Given the description of an element on the screen output the (x, y) to click on. 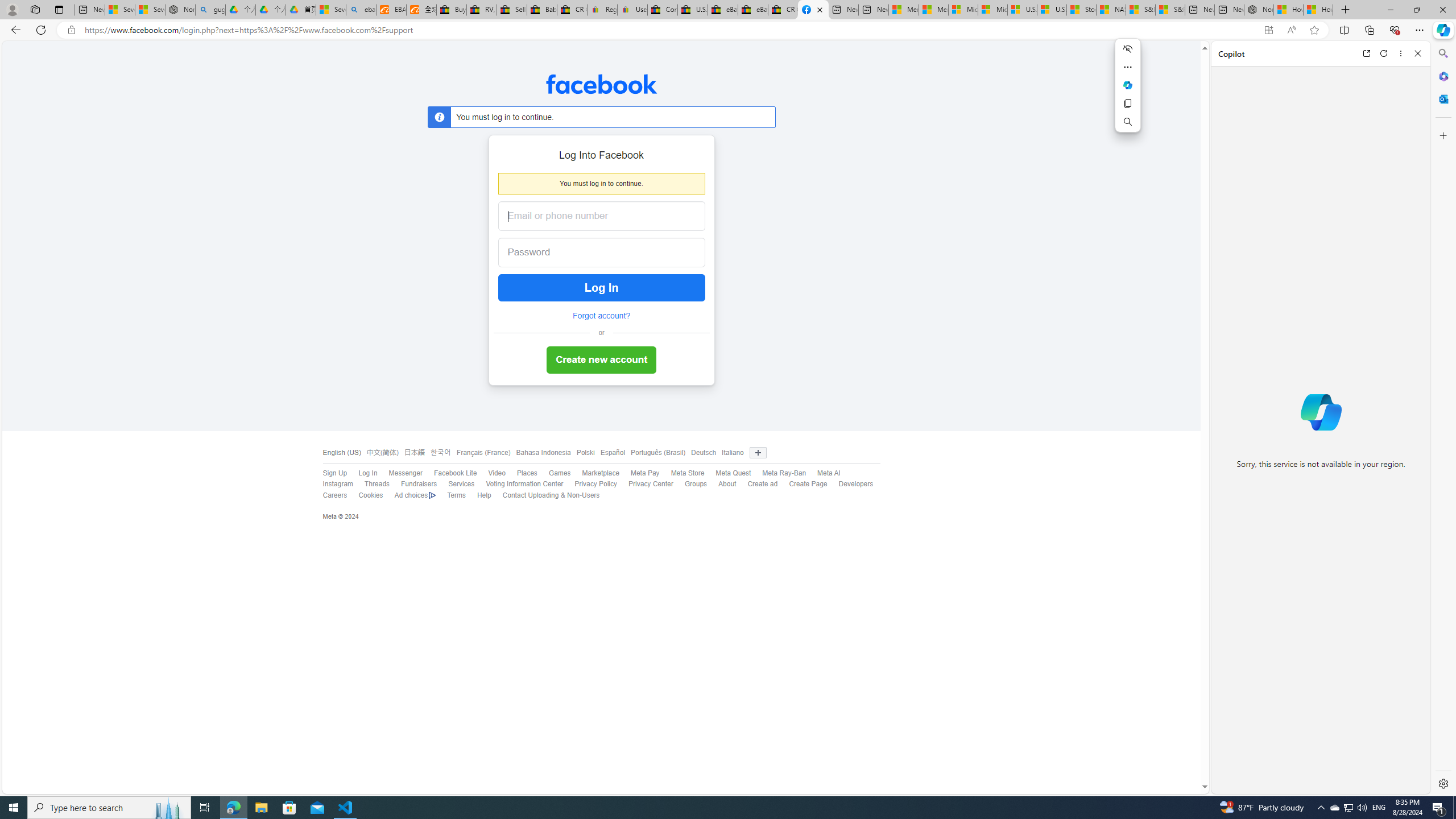
Facebook Lite (455, 473)
Create Page (808, 483)
Meta AI (823, 473)
Meta Quest (727, 473)
Create ad (756, 484)
Video (496, 473)
Log into Facebook (812, 9)
Meta Quest (732, 473)
Voting Information Center (518, 484)
Bahasa Indonesia (539, 452)
Facebook (600, 84)
